Given the description of an element on the screen output the (x, y) to click on. 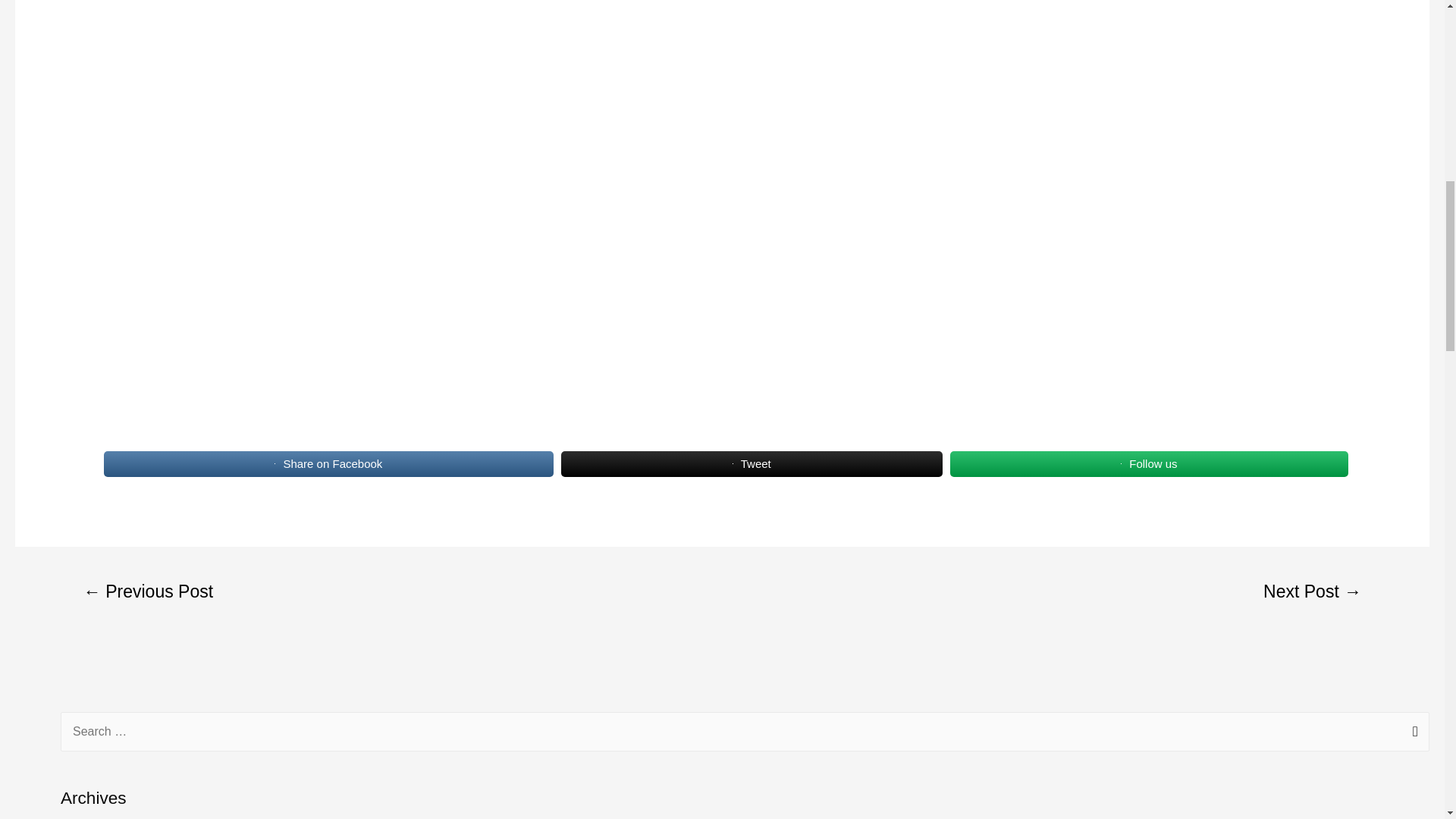
Search (1411, 732)
Search (1411, 732)
Tweet (751, 463)
Share on Facebook (328, 463)
Follow us (1149, 463)
Search (1411, 732)
